Given the description of an element on the screen output the (x, y) to click on. 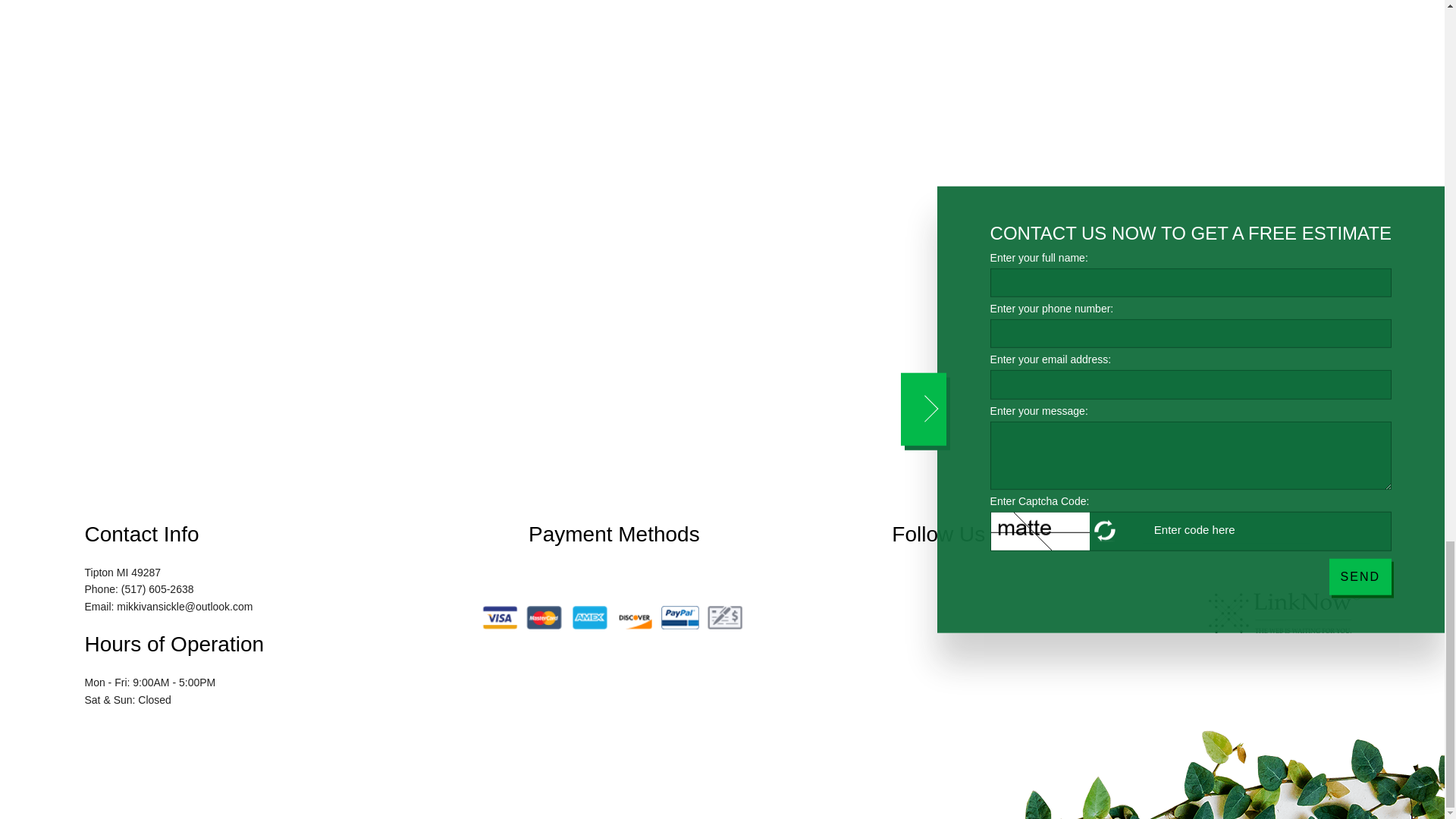
American Express (589, 617)
Visa (499, 617)
Discover (634, 617)
Check (725, 617)
PayPal (679, 617)
Mastercard (544, 617)
